Given the description of an element on the screen output the (x, y) to click on. 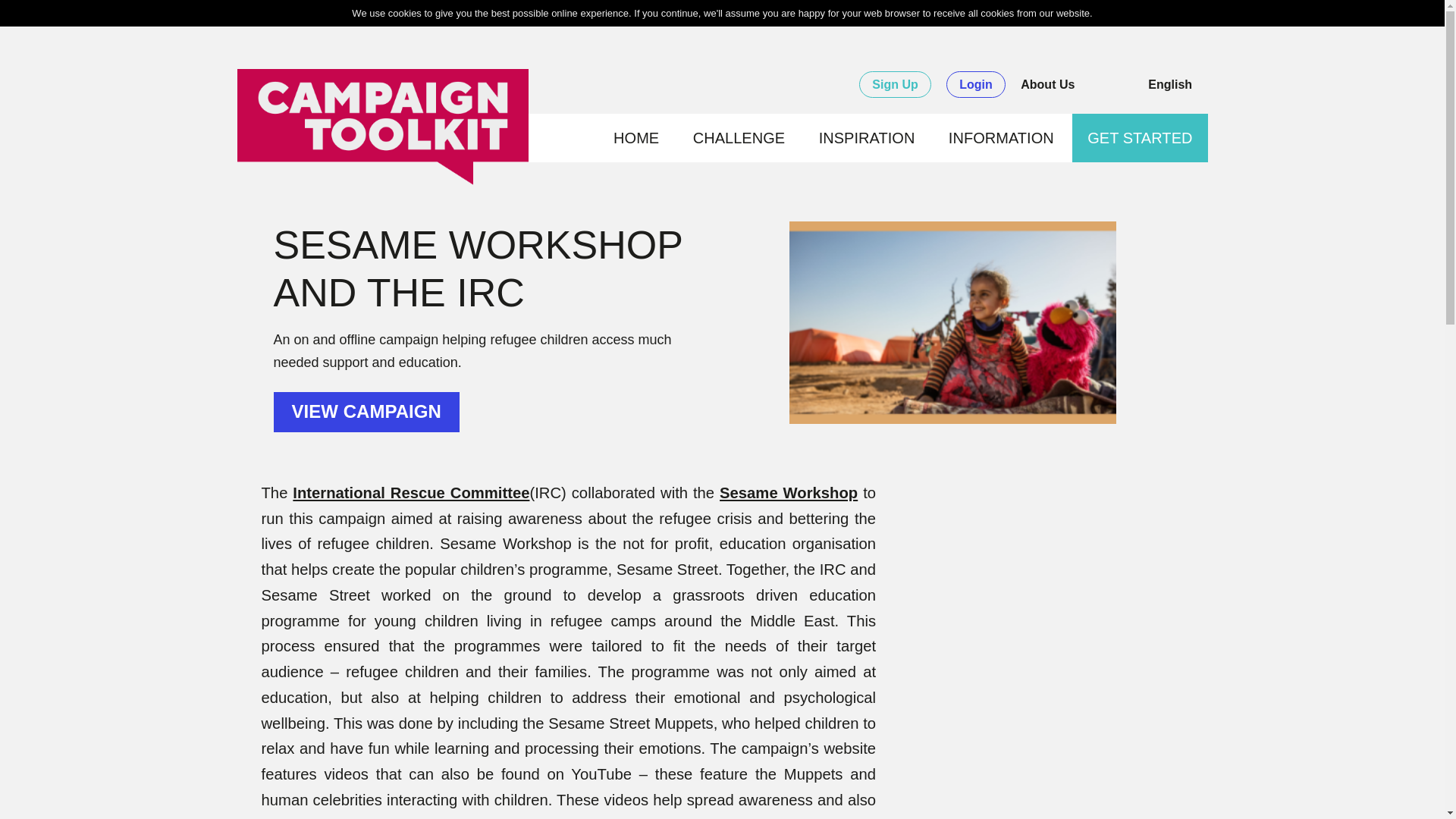
GET STARTED (1139, 137)
INSPIRATION (866, 137)
English (1177, 83)
About Us (1047, 83)
Login (976, 84)
Sesame Workshop (788, 492)
International Rescue Committee (410, 492)
Search (1111, 85)
Sign Up (894, 84)
CHALLENGE (739, 137)
